Given the description of an element on the screen output the (x, y) to click on. 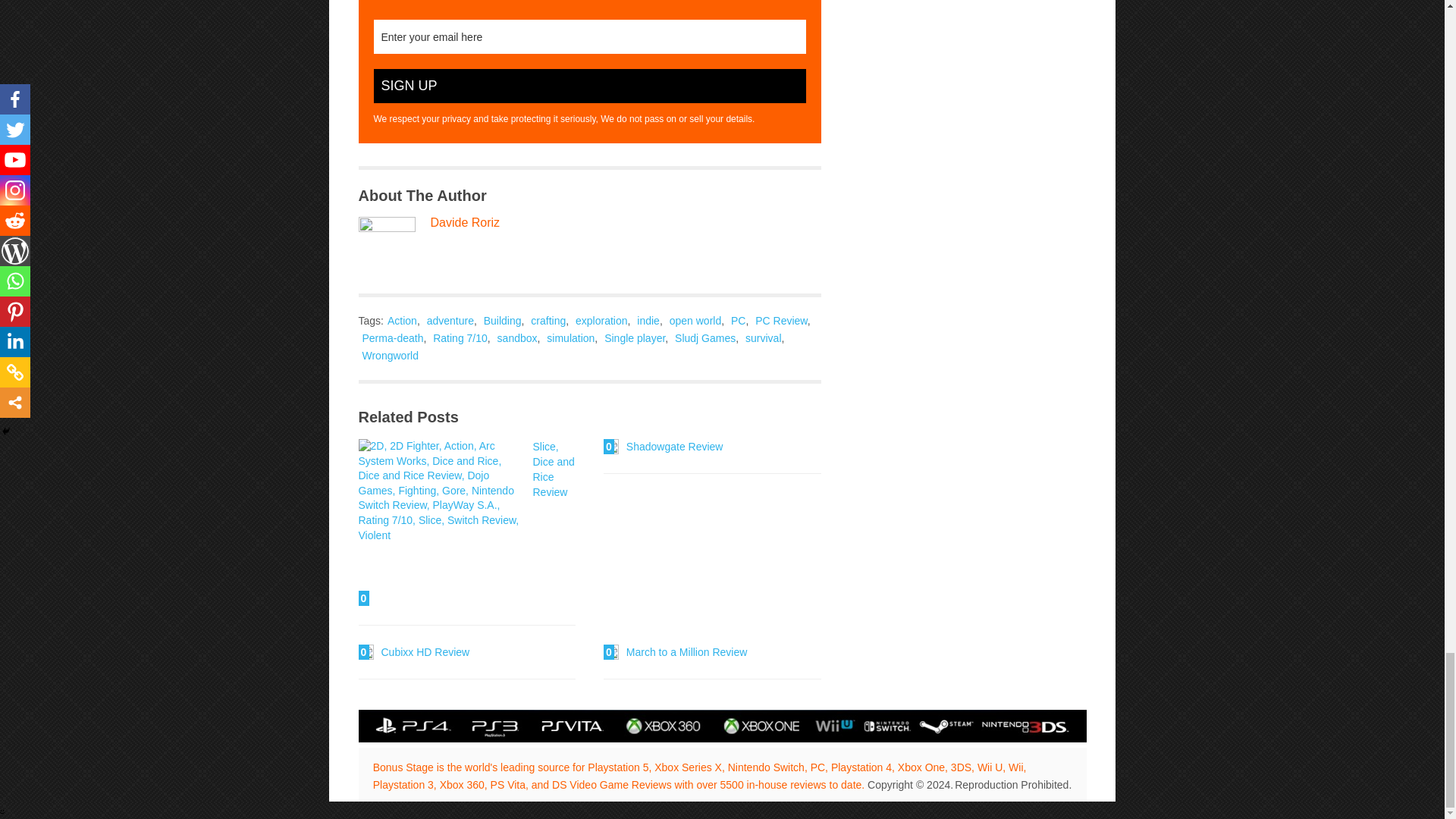
Sign Up (588, 85)
